Given the description of an element on the screen output the (x, y) to click on. 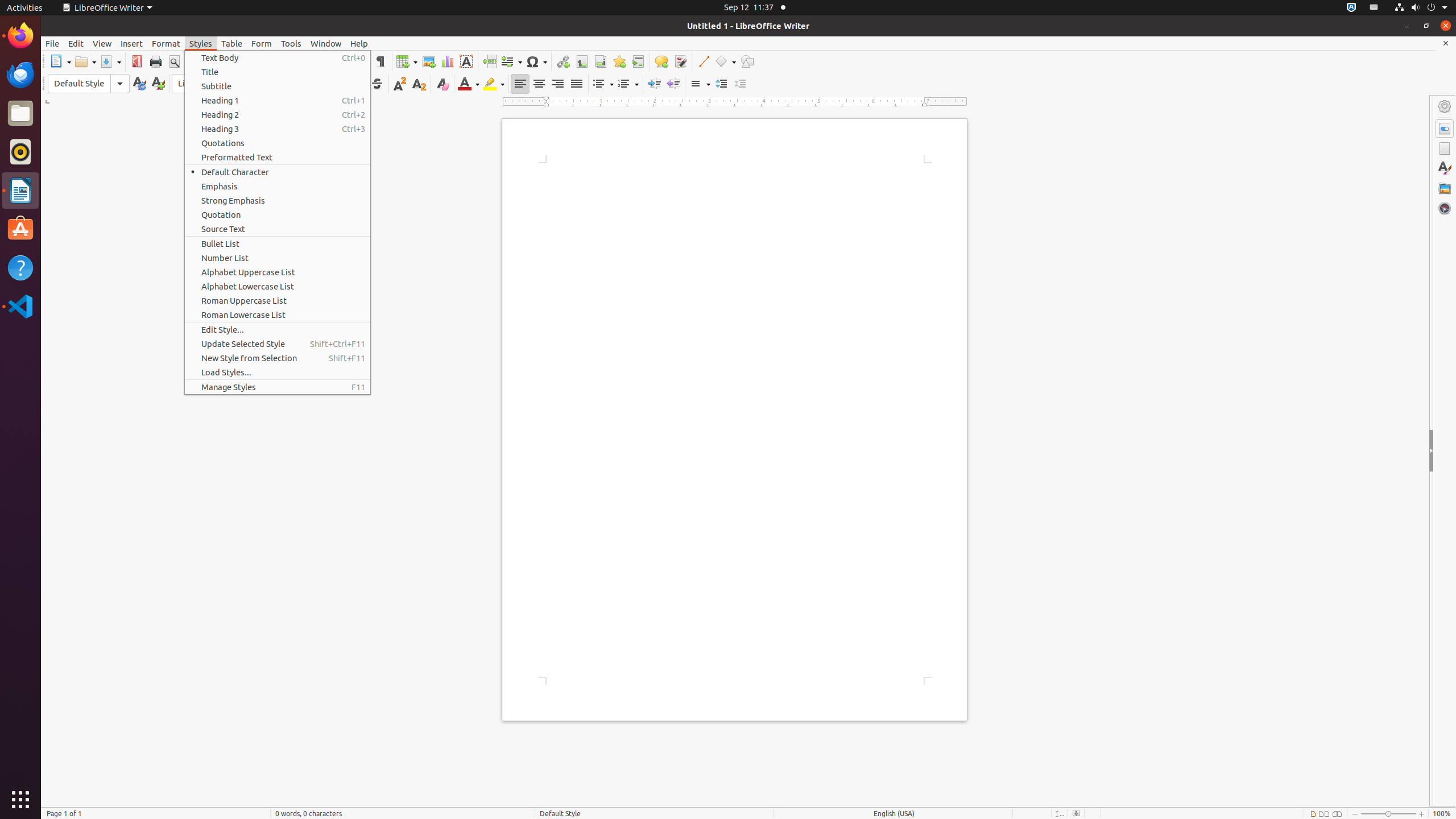
Title Element type: radio-menu-item (277, 71)
:1.72/StatusNotifierItem Element type: menu (1350, 7)
Text Box Element type: push-button (465, 61)
Help Element type: push-button (20, 267)
Files Element type: push-button (20, 113)
